Given the description of an element on the screen output the (x, y) to click on. 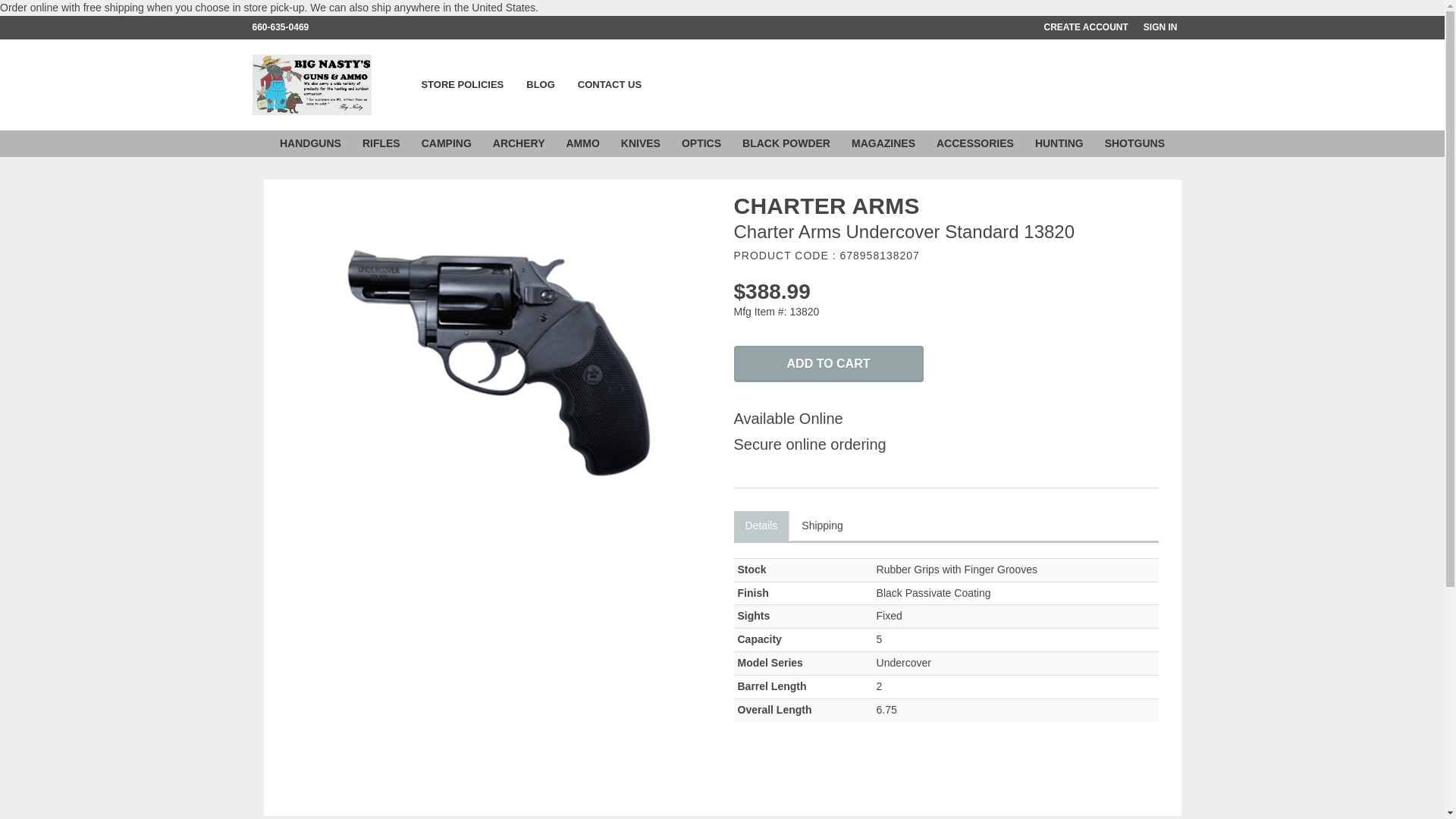
HANDGUNS (310, 143)
STORE POLICIES (462, 84)
CREATE ACCOUNT (1092, 26)
SIGN IN (1167, 26)
CONTACT US (609, 84)
RIFLES (381, 143)
660-635-0469 (287, 26)
